Given the description of an element on the screen output the (x, y) to click on. 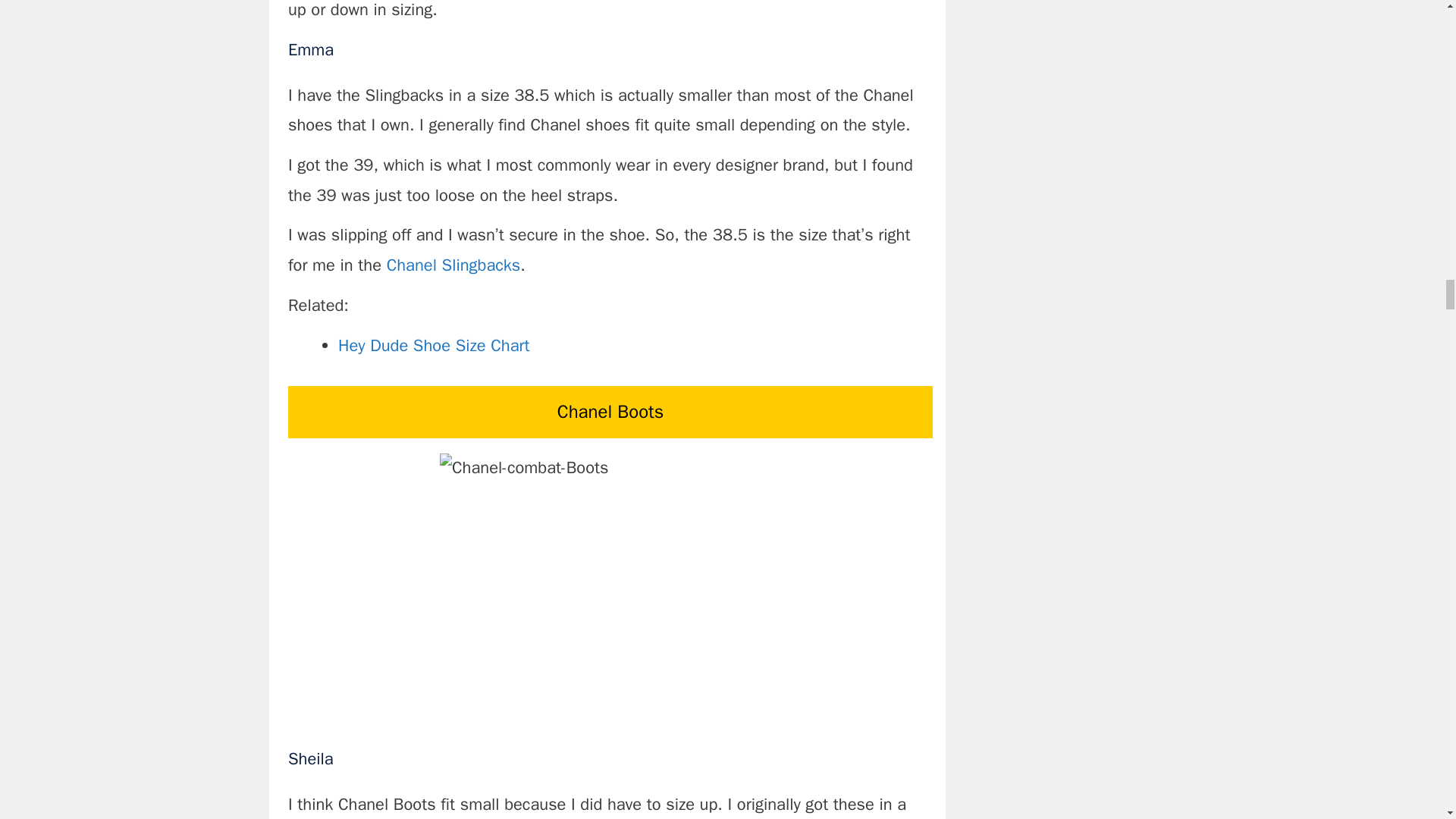
Hey Dude Shoe Size Chart (433, 345)
Chanel Slingbacks (454, 265)
